Given the description of an element on the screen output the (x, y) to click on. 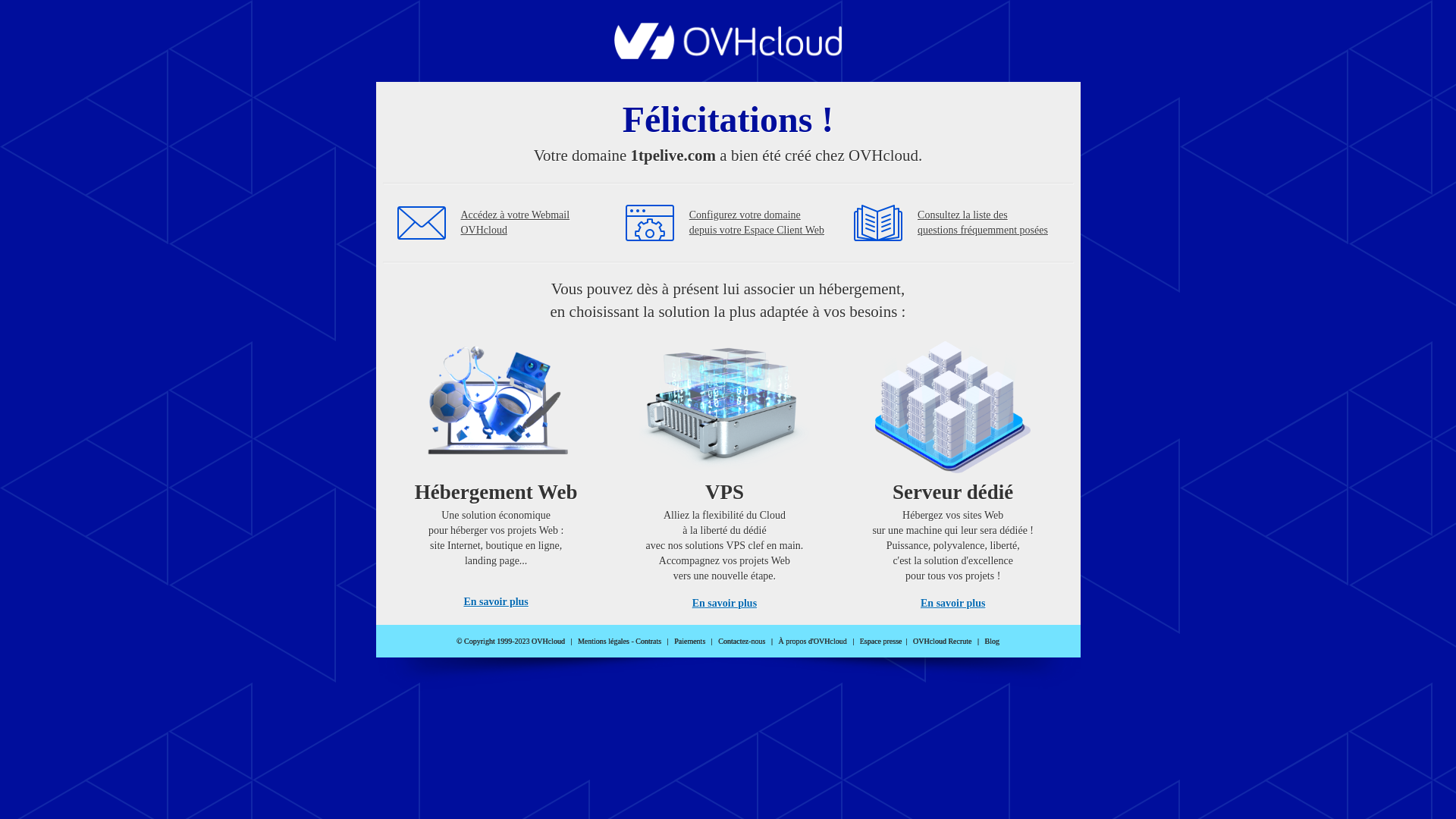
Contactez-nous Element type: text (741, 641)
En savoir plus Element type: text (952, 602)
OVHcloud Recrute Element type: text (942, 641)
Espace presse Element type: text (880, 641)
Blog Element type: text (992, 641)
Paiements Element type: text (689, 641)
OVHcloud Element type: hover (727, 54)
En savoir plus Element type: text (495, 601)
Configurez votre domaine
depuis votre Espace Client Web Element type: text (756, 222)
VPS Element type: hover (724, 469)
En savoir plus Element type: text (724, 602)
